Given the description of an element on the screen output the (x, y) to click on. 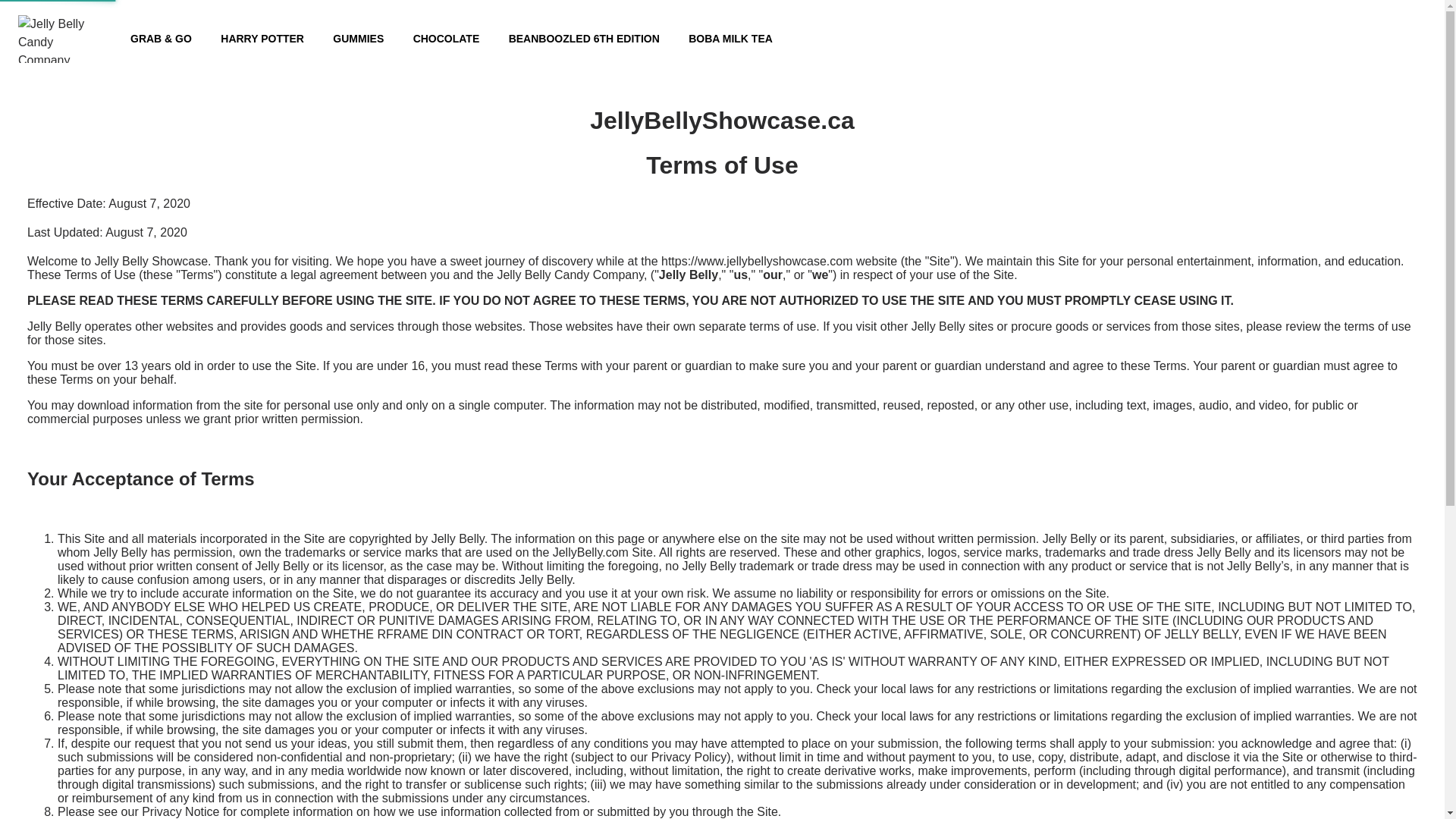
CHOCOLATE (446, 38)
HARRY POTTER (262, 38)
BOBA MILK TEA (730, 38)
GUMMIES (358, 38)
BEANBOOZLED 6TH EDITION (583, 38)
